Given the description of an element on the screen output the (x, y) to click on. 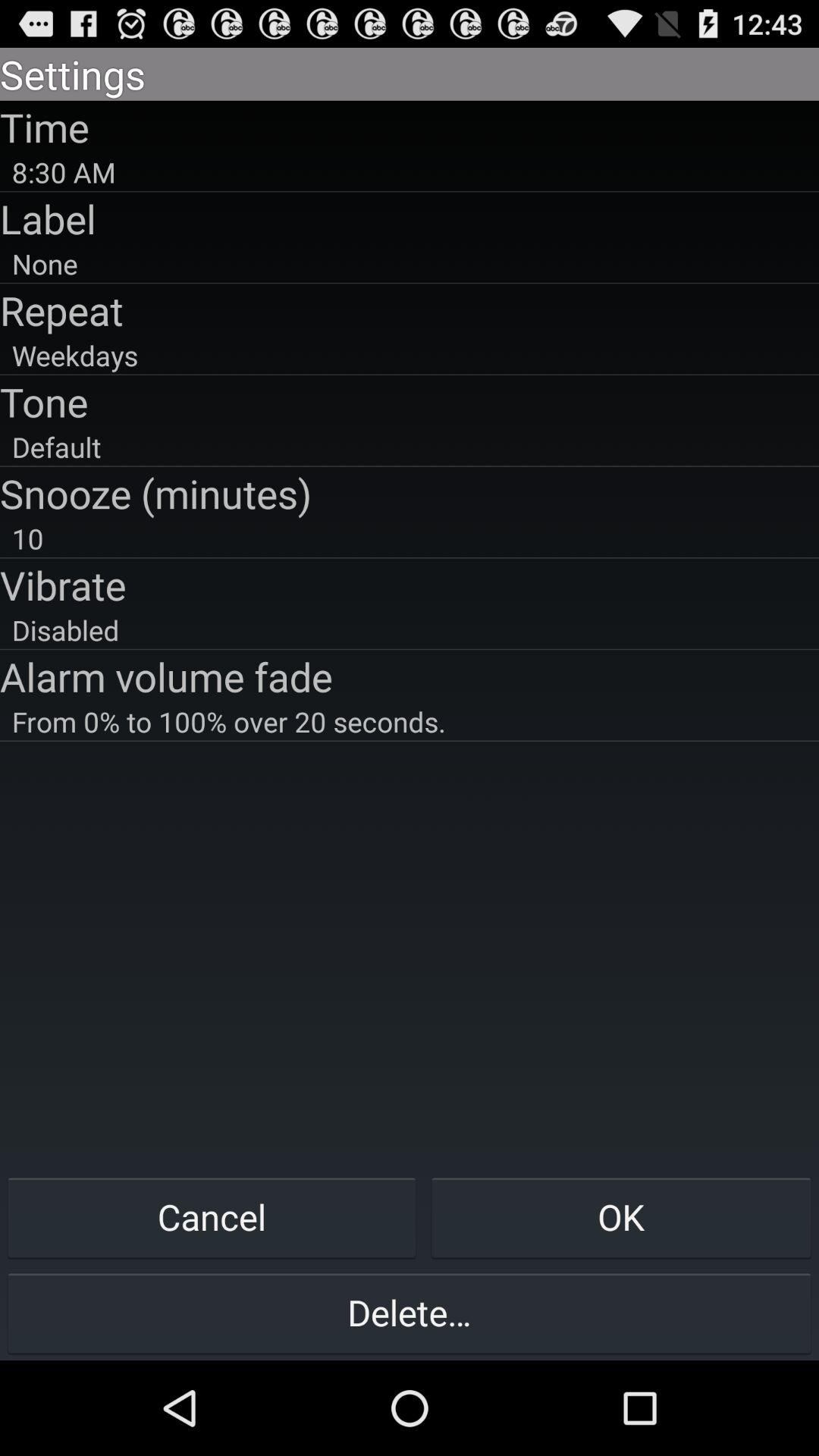
press item below the alarm volume fade app (409, 721)
